Given the description of an element on the screen output the (x, y) to click on. 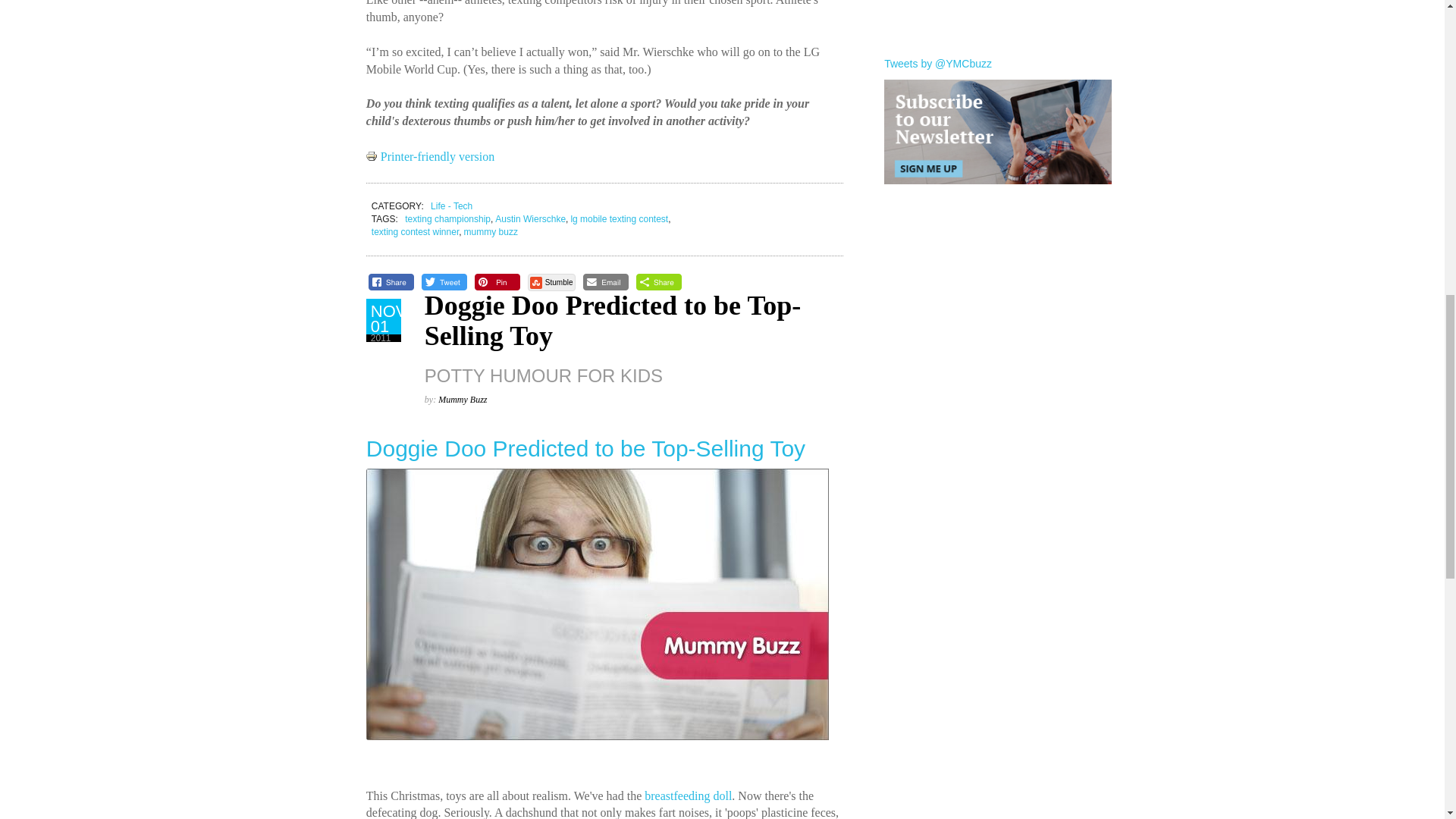
Display a printer-friendly version of this page. (430, 155)
